Given the description of an element on the screen output the (x, y) to click on. 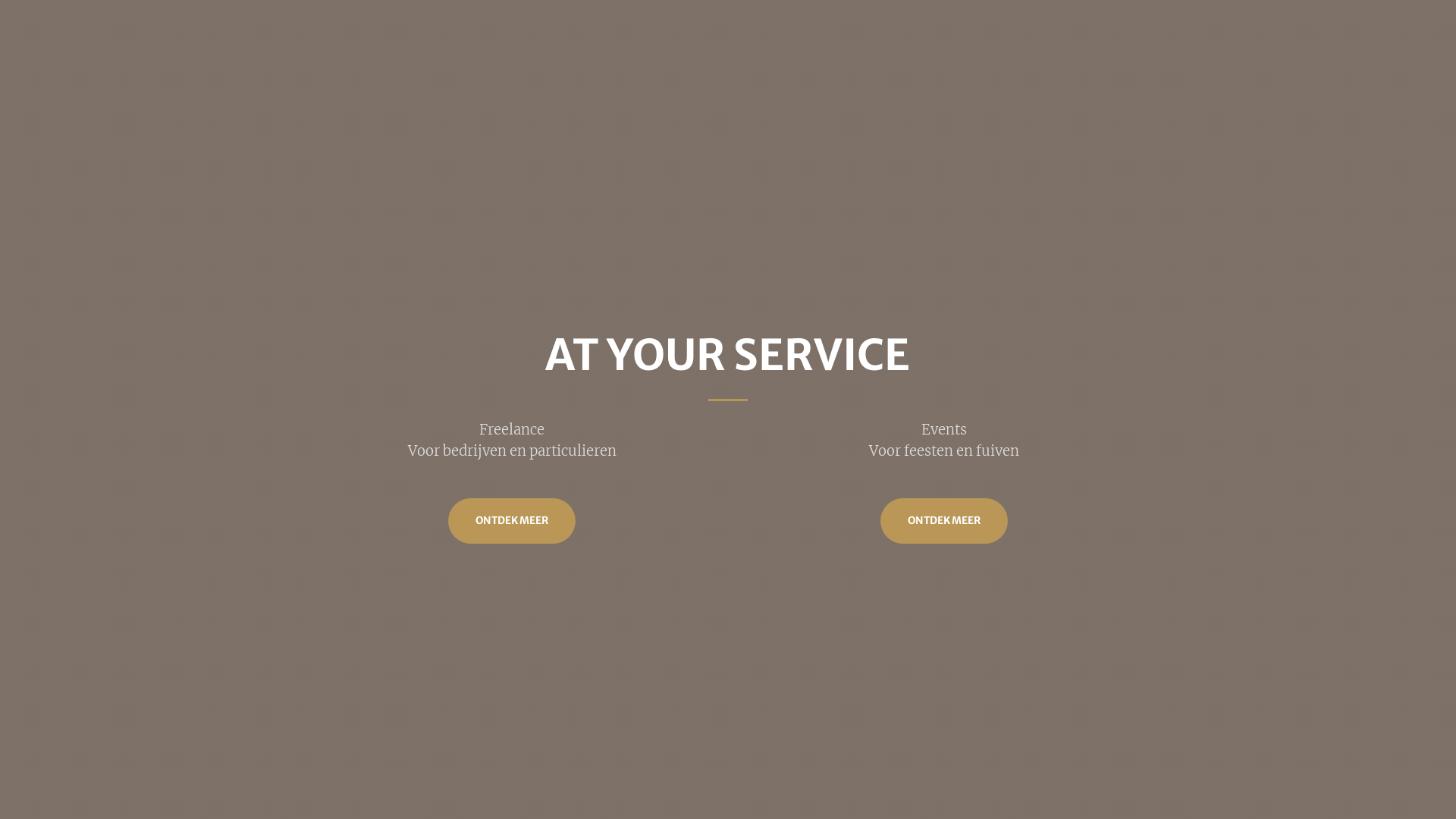
ONTDEK MEER Element type: text (943, 519)
ONTDEK MEER Element type: text (511, 519)
